Given the description of an element on the screen output the (x, y) to click on. 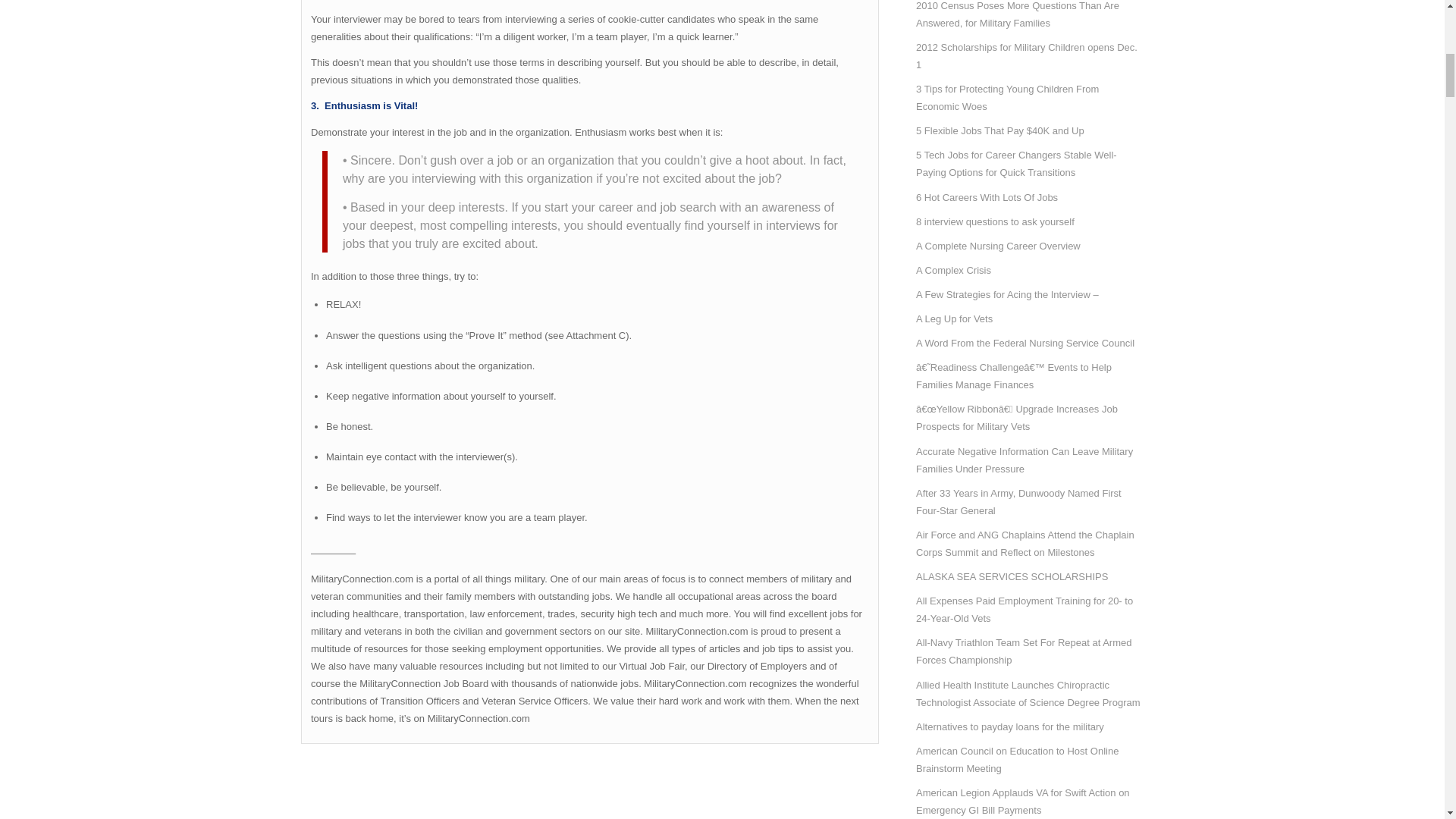
2012 Scholarships for Military Children opens Dec. 1 (1028, 56)
8 interview questions to ask yourself (1028, 221)
3 Tips for Protecting Young Children From Economic Woes (1028, 97)
6 Hot Careers With Lots Of Jobs (1028, 197)
